Given the description of an element on the screen output the (x, y) to click on. 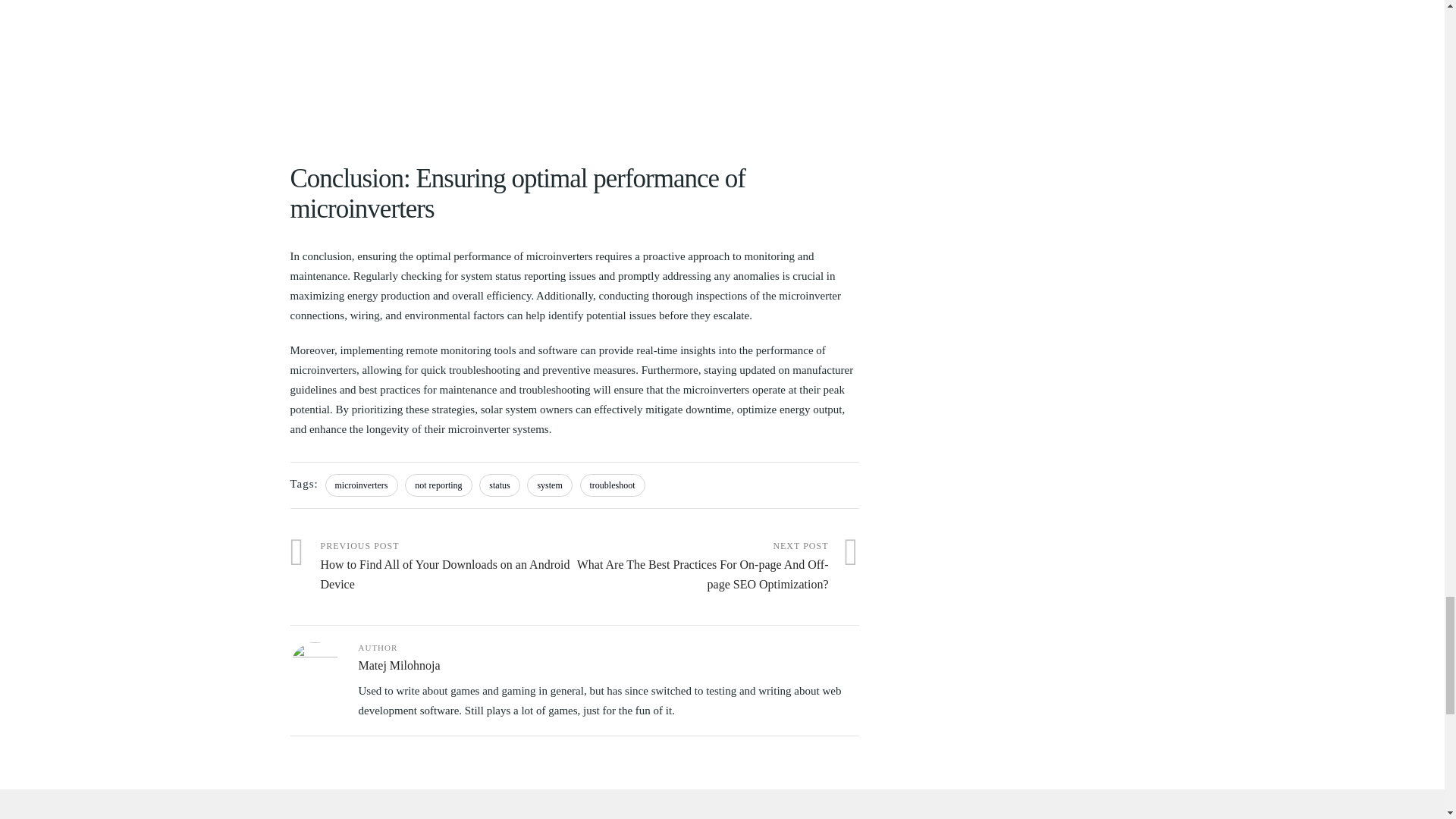
troubleshoot (612, 485)
not reporting (437, 485)
status (499, 485)
microinverters (360, 485)
system (549, 485)
How to Find All of Your Downloads on an Android Device (431, 566)
